Given the description of an element on the screen output the (x, y) to click on. 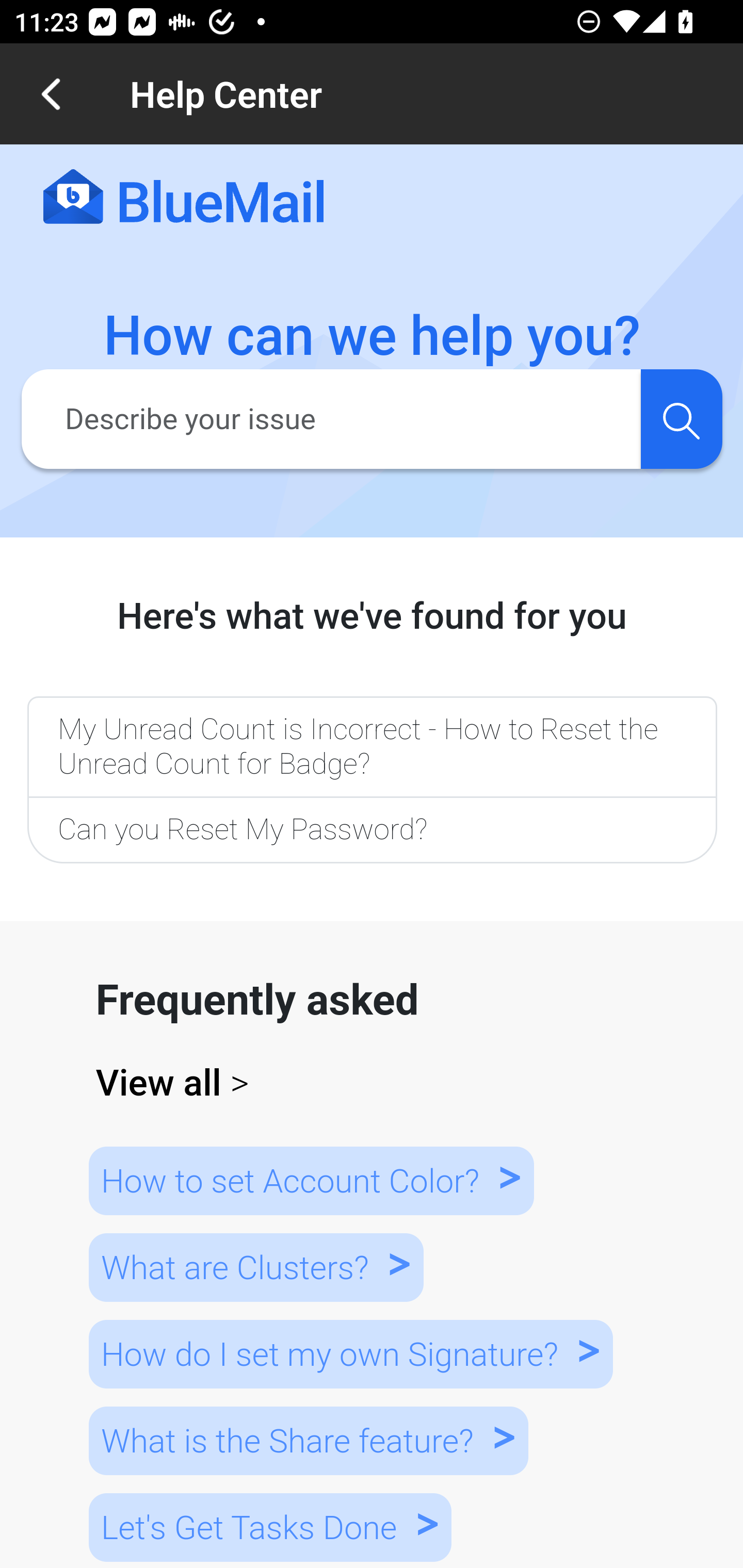
Navigate up (50, 93)
BlueMail Logo (184, 197)
How can we help you? (372, 336)
search (680, 418)
Can you Reset My Password? (371, 830)
View all> (372, 1083)
How to set Account Color?> (310, 1180)
What are Clusters?> (255, 1267)
How do I set my own Signature?> (349, 1353)
What is the Share feature?> (307, 1440)
Let's Get Tasks Done> (269, 1527)
